Given the description of an element on the screen output the (x, y) to click on. 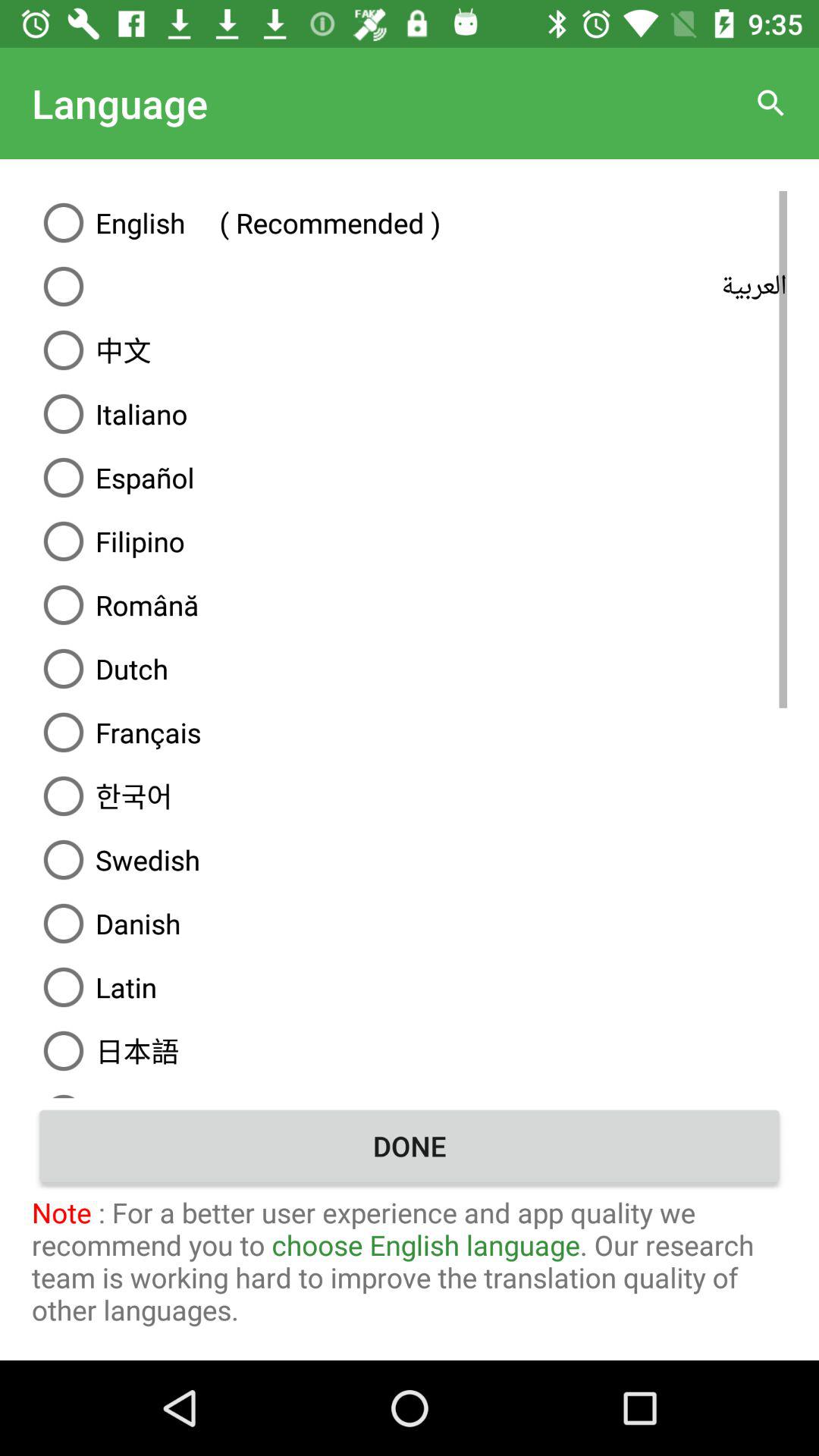
launch the filipino icon (409, 541)
